Given the description of an element on the screen output the (x, y) to click on. 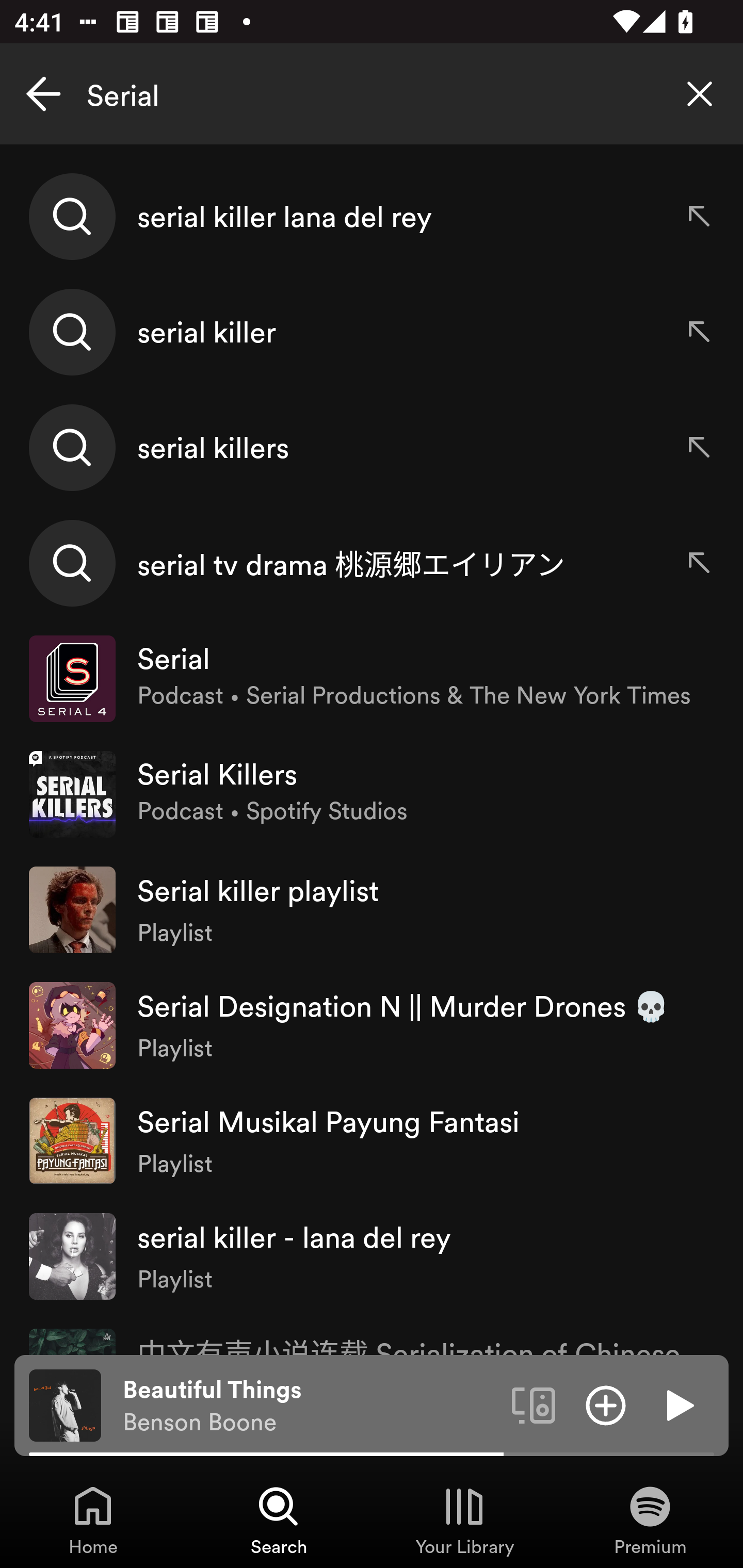
Serial (371, 93)
Cancel (43, 93)
Clear search query (699, 93)
serial killer lana del rey (371, 216)
serial killer (371, 332)
serial killers (371, 447)
serial tv drama 桃源郷エイリアン (371, 562)
Serial Killers Podcast • Spotify Studios (371, 793)
Serial killer playlist Playlist (371, 909)
Serial Designation N || Murder Drones 💀 Playlist (371, 1025)
Serial Musikal Payung Fantasi Playlist (371, 1140)
serial killer - lana del rey Playlist (371, 1255)
Beautiful Things Benson Boone (309, 1405)
The cover art of the currently playing track (64, 1404)
Connect to a device. Opens the devices menu (533, 1404)
Add item (605, 1404)
Play (677, 1404)
Home, Tab 1 of 4 Home Home (92, 1519)
Search, Tab 2 of 4 Search Search (278, 1519)
Your Library, Tab 3 of 4 Your Library Your Library (464, 1519)
Premium, Tab 4 of 4 Premium Premium (650, 1519)
